Given the description of an element on the screen output the (x, y) to click on. 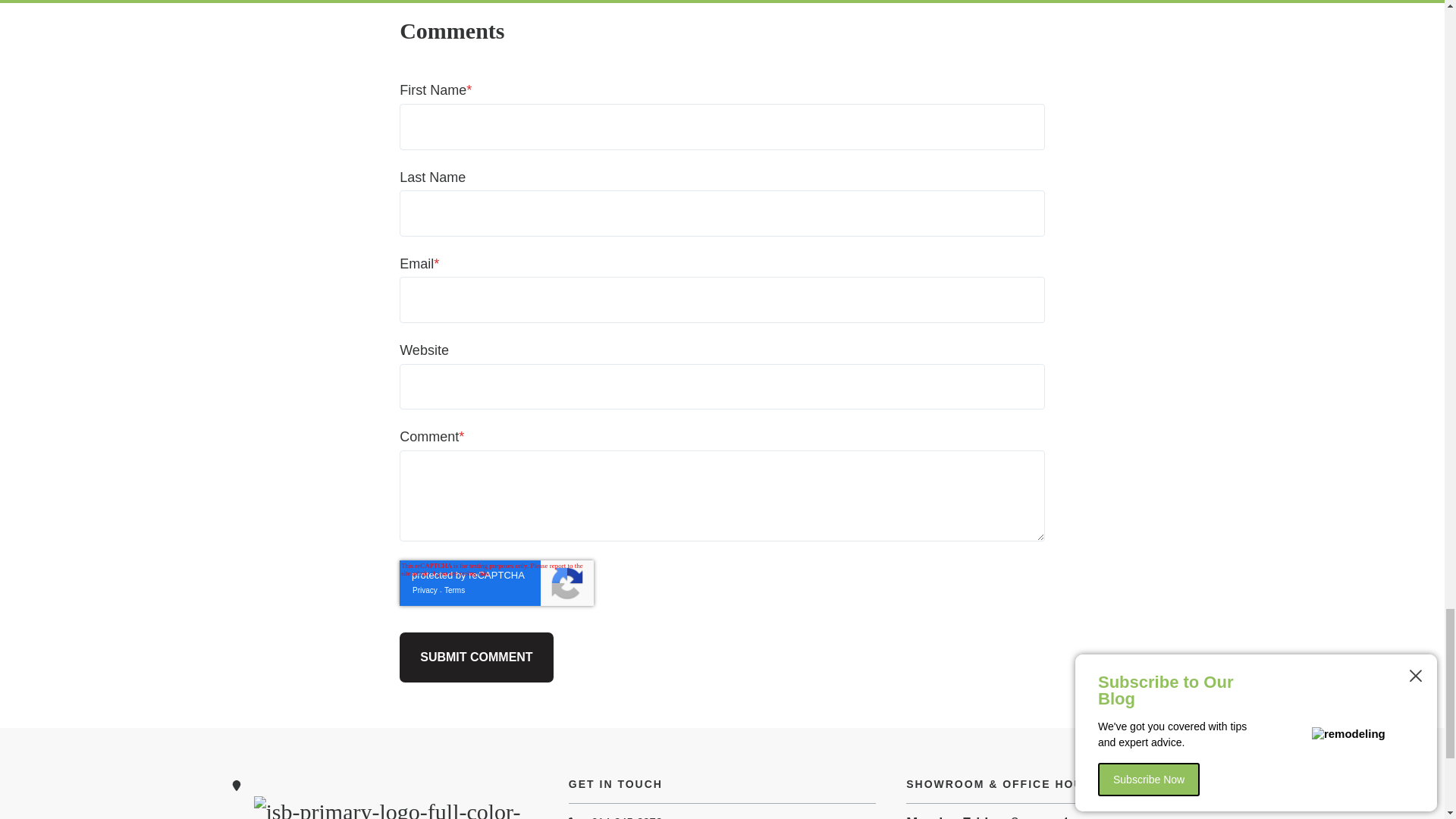
reCAPTCHA (496, 583)
Submit Comment (475, 657)
